Given the description of an element on the screen output the (x, y) to click on. 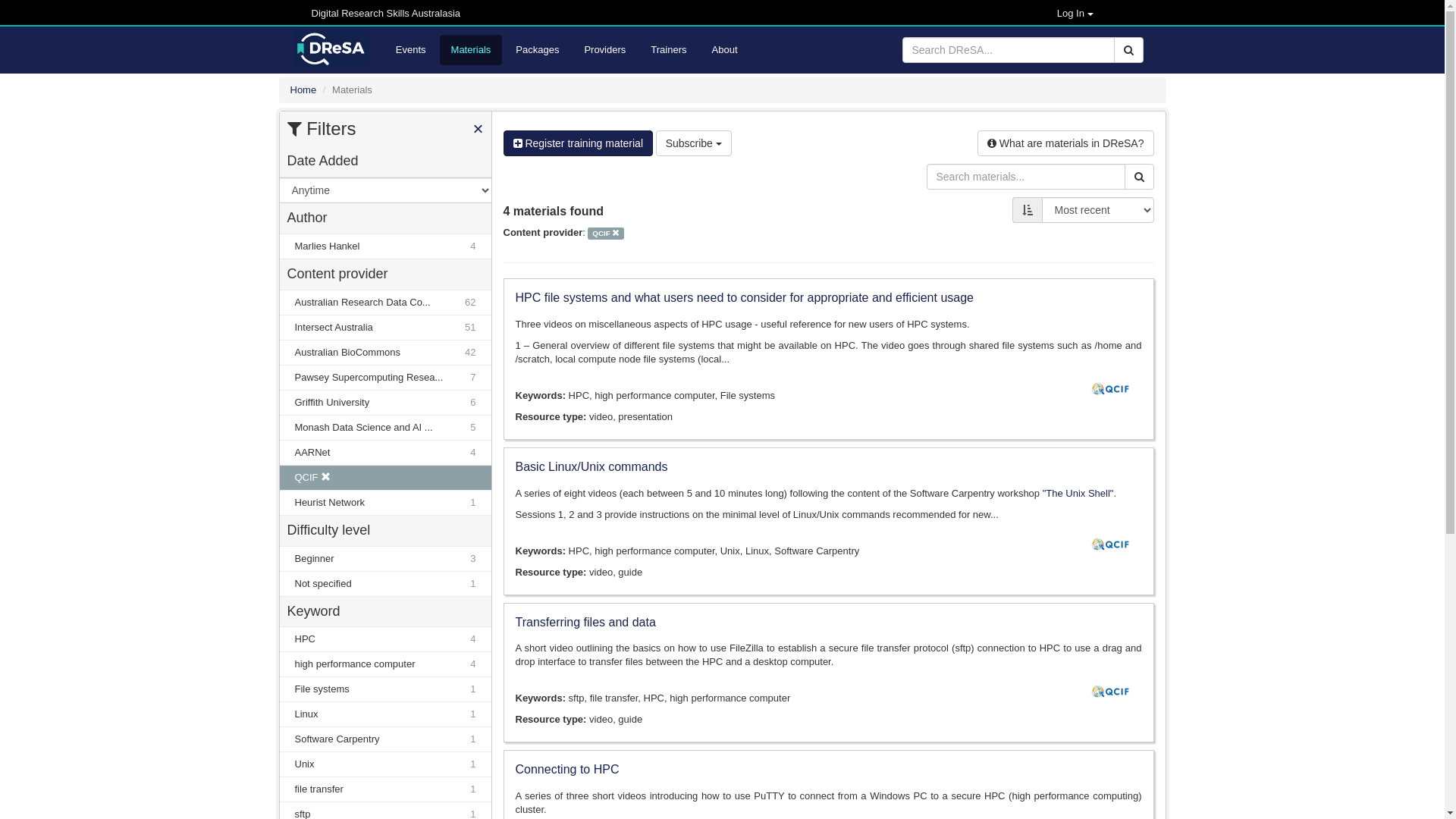
Pawsey Supercomputing Resea...
7 Element type: text (384, 377)
Linux
1 Element type: text (384, 714)
Register training material Element type: text (578, 143)
HPC
4 Element type: text (384, 639)
QCIF  Element type: text (384, 477)
About Element type: text (724, 49)
Transferring files and data Element type: text (828, 622)
file transfer
1 Element type: text (384, 789)
Providers Element type: text (604, 49)
Events Element type: text (410, 49)
Marlies Hankel
4 Element type: text (384, 246)
Unix
1 Element type: text (384, 764)
File systems
1 Element type: text (384, 689)
"The Unix Shell" Element type: text (1077, 492)
Beginner
3 Element type: text (384, 558)
Monash Data Science and AI ...
5 Element type: text (384, 427)
Intersect Australia
51 Element type: text (384, 327)
Trainers Element type: text (668, 49)
AARNet
4 Element type: text (384, 452)
high performance computer
4 Element type: text (384, 664)
Software Carpentry
1 Element type: text (384, 739)
Australian BioCommons
42 Element type: text (384, 352)
Australian Research Data Co...
62 Element type: text (384, 302)
Packages Element type: text (537, 49)
Home Element type: text (302, 89)
QCIF  Element type: text (605, 233)
What are materials in DReSA? Element type: text (1065, 143)
Sort by Element type: hover (1027, 209)
Basic Linux/Unix commands Element type: text (828, 467)
Griffith University
6 Element type: text (384, 402)
Heurist Network
1 Element type: text (384, 502)
Not specified
1 Element type: text (384, 583)
Subscribe Element type: text (693, 143)
Connecting to HPC Element type: text (828, 769)
Materials Element type: text (470, 49)
